Given the description of an element on the screen output the (x, y) to click on. 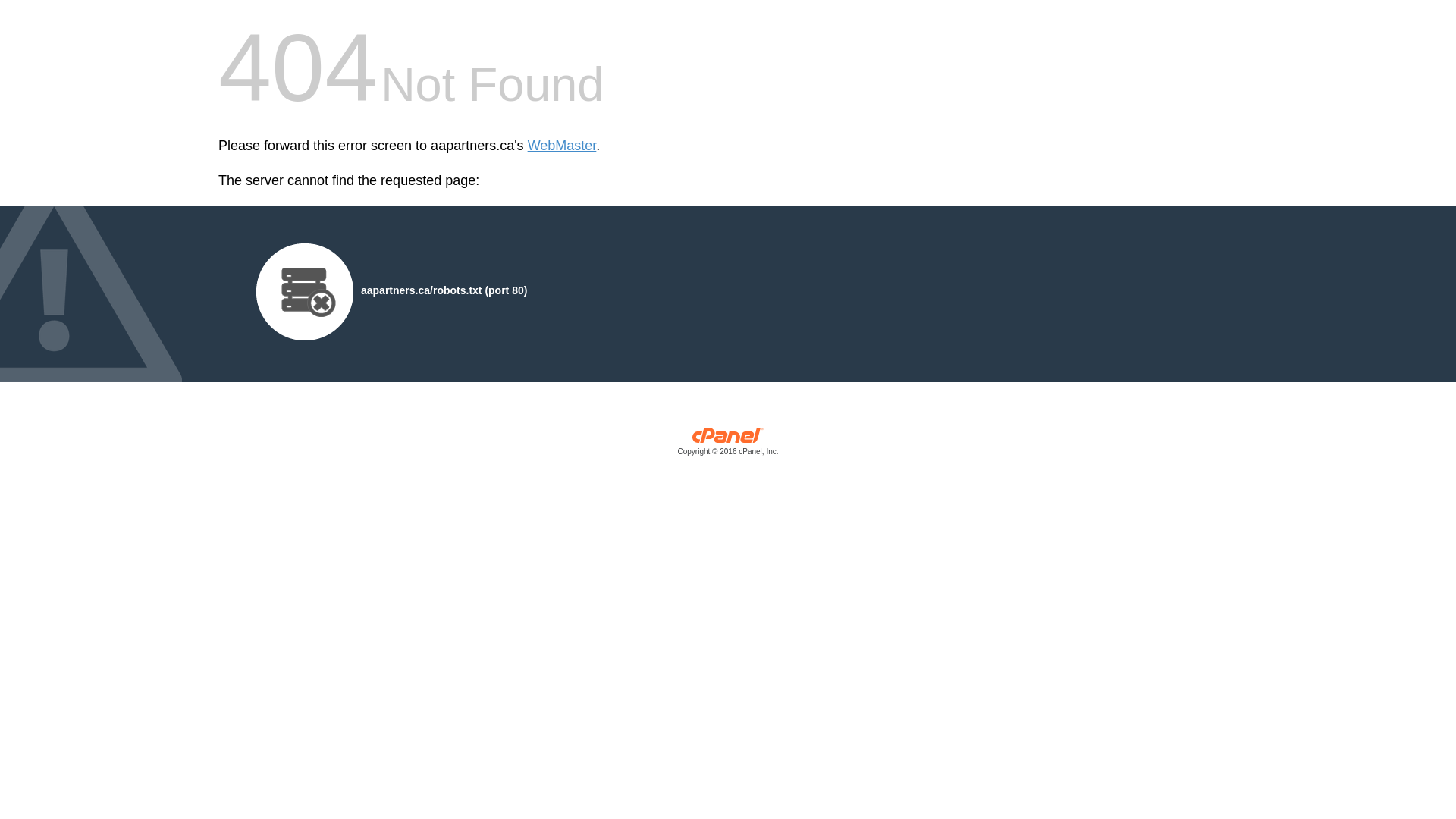
WebMaster Element type: text (561, 145)
